Given the description of an element on the screen output the (x, y) to click on. 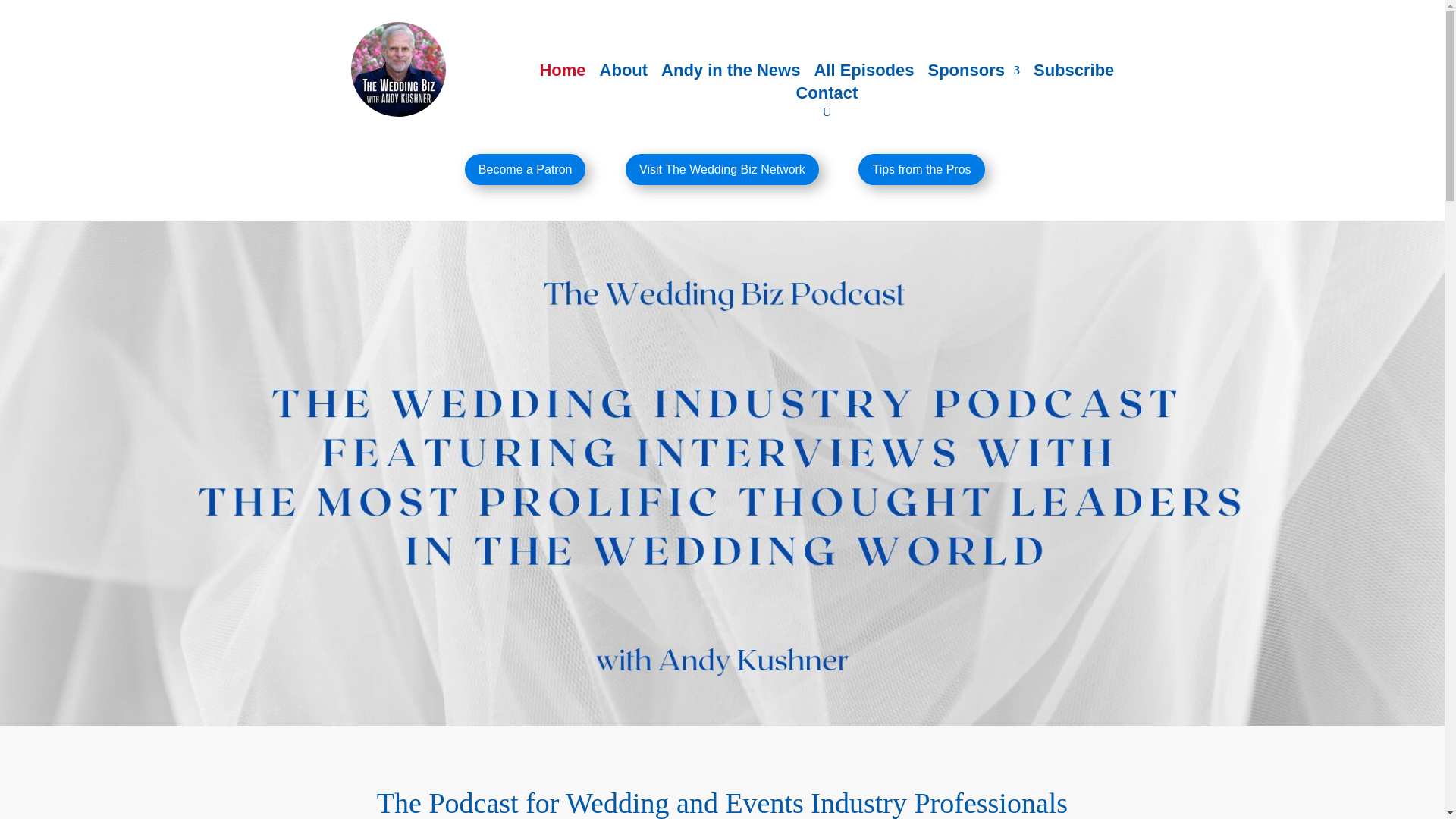
Home (561, 73)
All Episodes (863, 73)
Contact (825, 95)
Subscribe (1073, 73)
Andy in the News (730, 73)
Become a Patron (525, 169)
Sponsors (974, 73)
About (623, 73)
Tips from the Pros (921, 169)
TWB Logo 125b (397, 69)
